Given the description of an element on the screen output the (x, y) to click on. 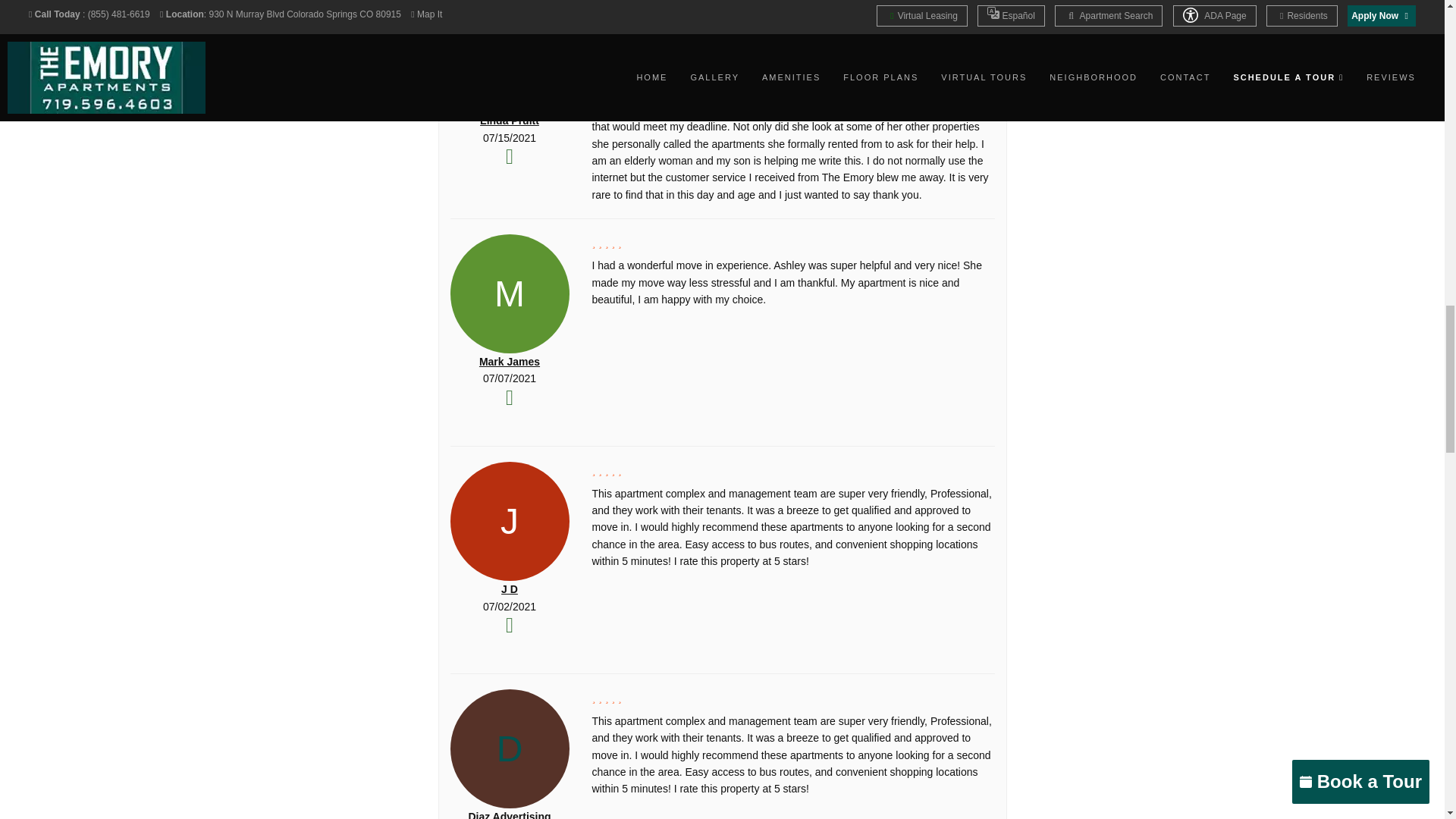
Diaz Advertising (508, 814)
J D (509, 589)
Linda Pruitt (509, 120)
Mark James (509, 361)
